Given the description of an element on the screen output the (x, y) to click on. 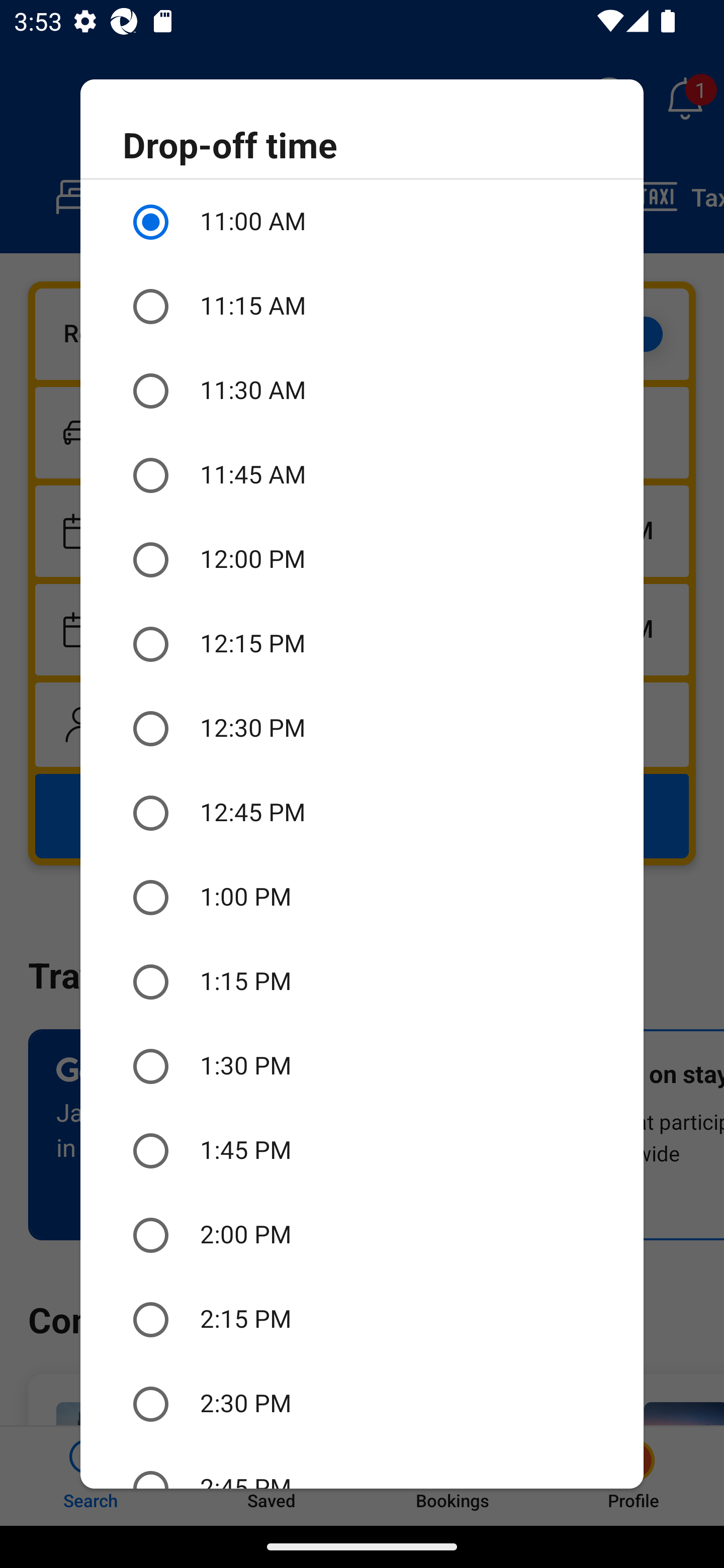
11:00 AM (361, 222)
11:15 AM (361, 306)
11:30 AM (361, 390)
11:45 AM (361, 474)
12:00 PM (361, 559)
12:15 PM (361, 644)
12:30 PM (361, 728)
12:45 PM (361, 813)
1:00 PM (361, 897)
1:15 PM (361, 981)
1:30 PM (361, 1065)
1:45 PM (361, 1150)
2:00 PM (361, 1235)
2:15 PM (361, 1319)
2:30 PM (361, 1403)
